Given the description of an element on the screen output the (x, y) to click on. 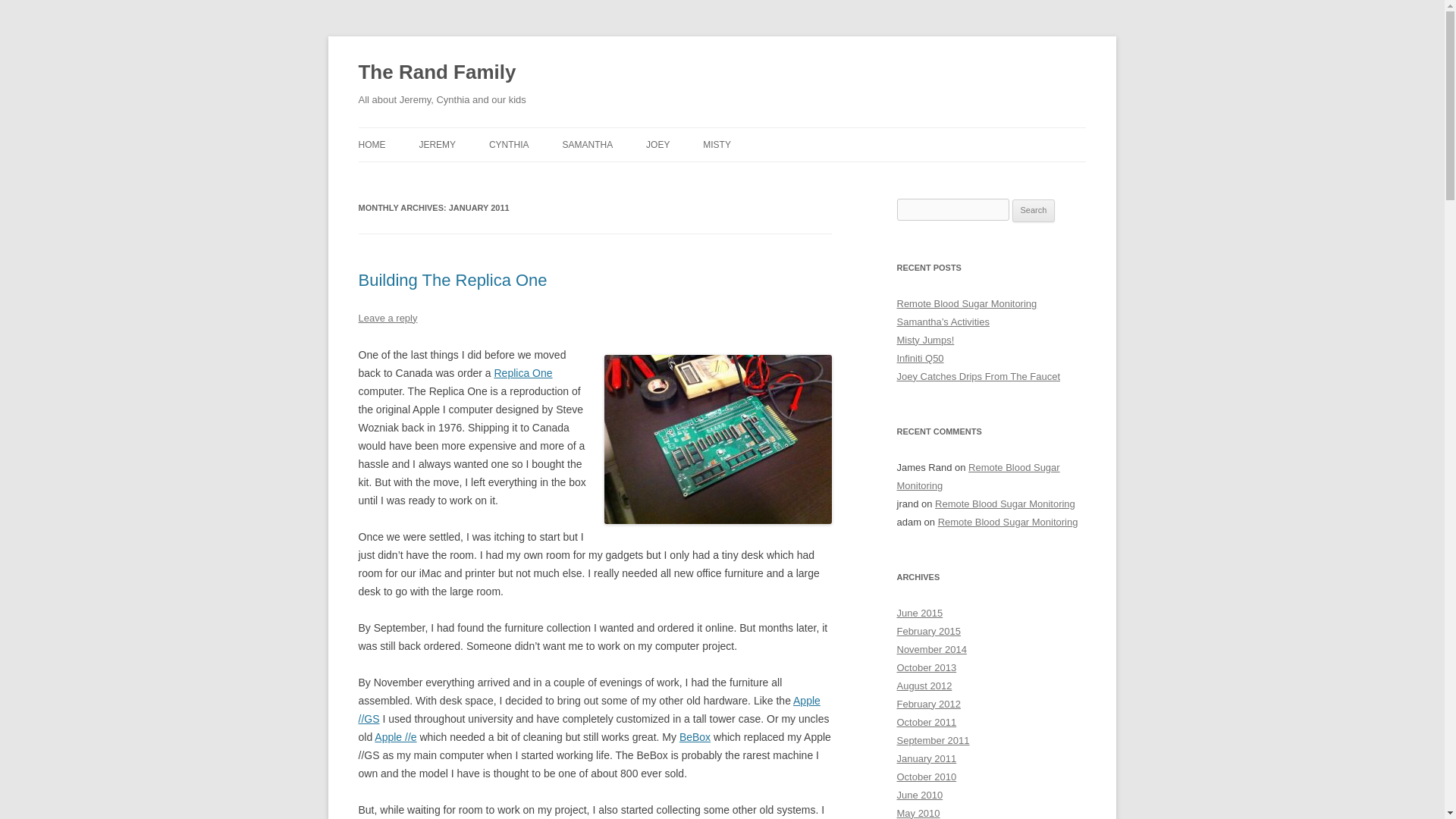
Infiniti Q50 (919, 357)
Leave a reply (387, 317)
SAMANTHA (587, 144)
JEREMY (437, 144)
TECHNOLOGY (494, 176)
Search (1033, 210)
HOME (371, 144)
Replica One (524, 372)
Building The Replica One (452, 280)
MISTY (716, 144)
Remote Blood Sugar Monitoring (977, 476)
Misty Jumps! (924, 339)
The Rand Family (436, 72)
Search (1033, 210)
